Given the description of an element on the screen output the (x, y) to click on. 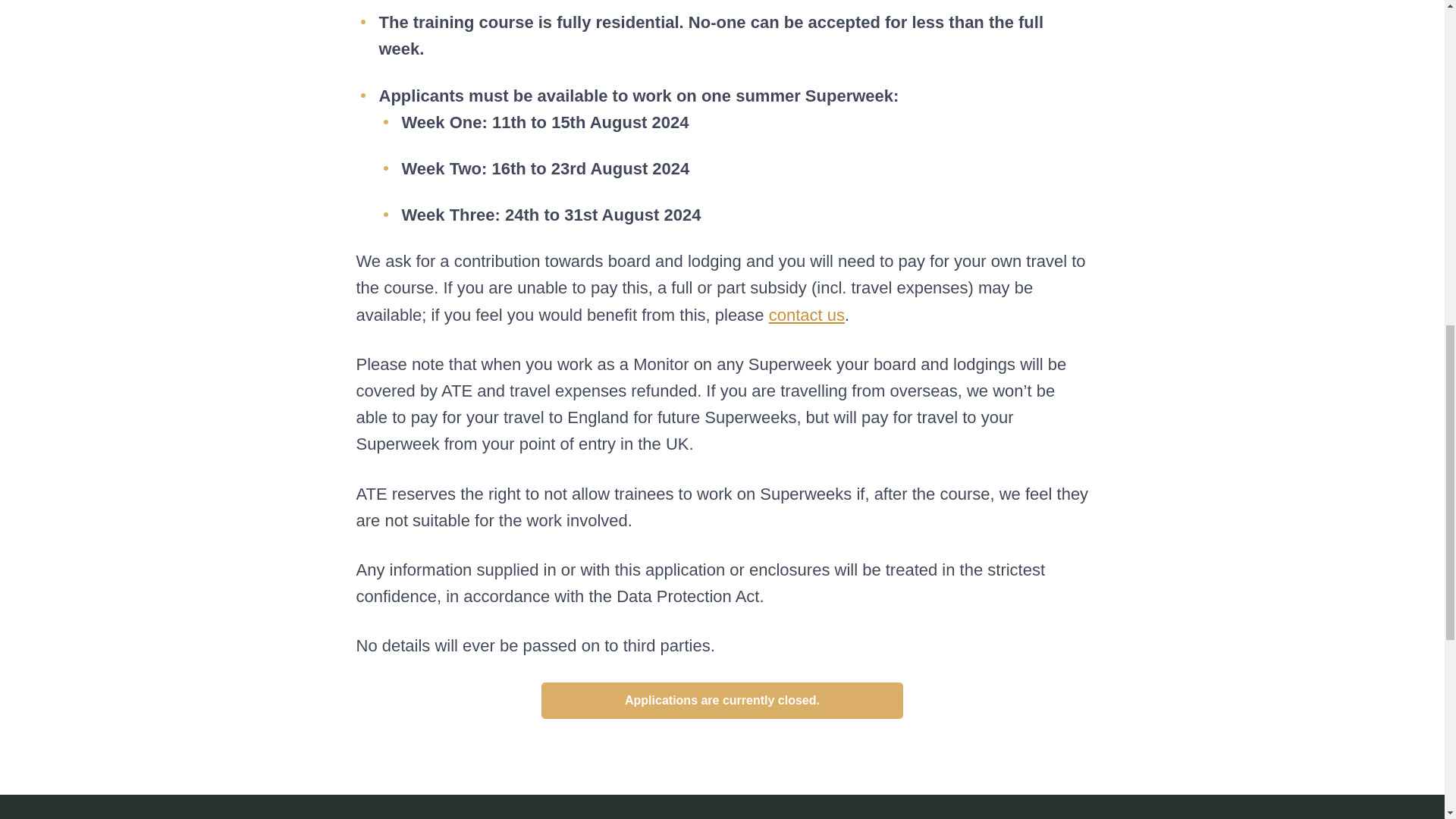
Applications are currently closed. (722, 700)
contact us (806, 314)
